Given the description of an element on the screen output the (x, y) to click on. 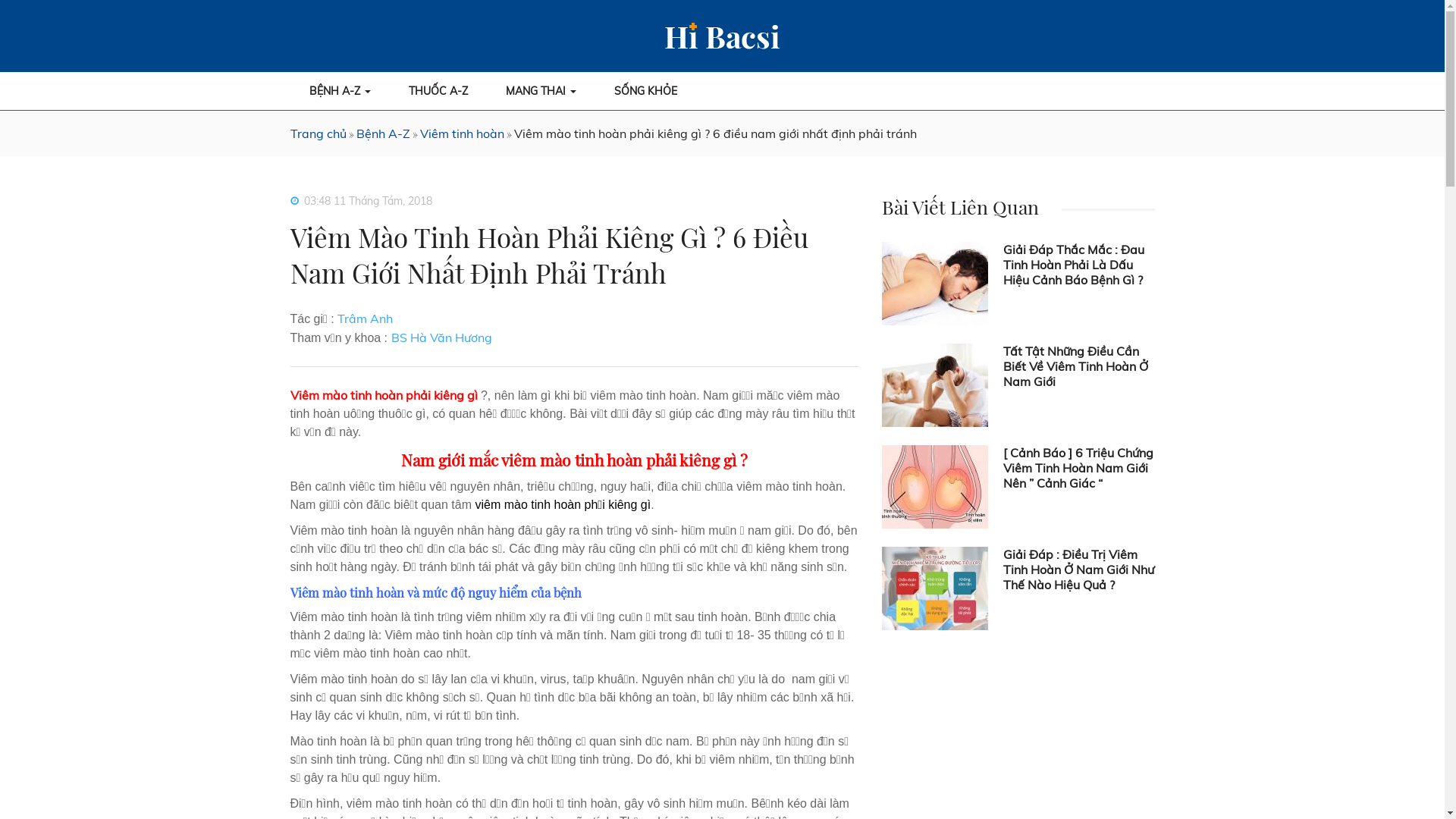
MANG THAI Element type: text (540, 90)
